Given the description of an element on the screen output the (x, y) to click on. 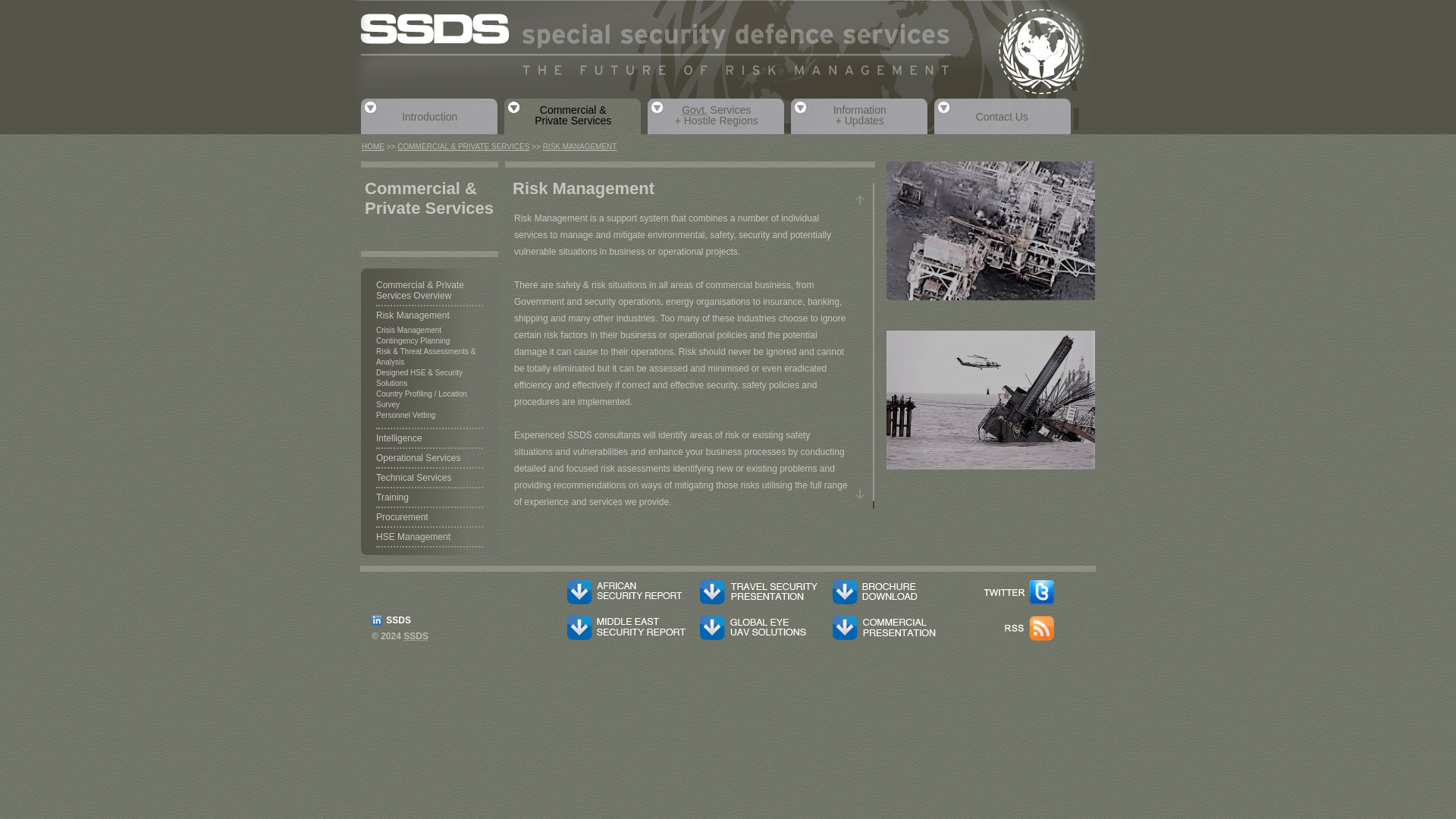
Web Design by Umber Creative, Hull, East Yorkshire (727, 19)
